Given the description of an element on the screen output the (x, y) to click on. 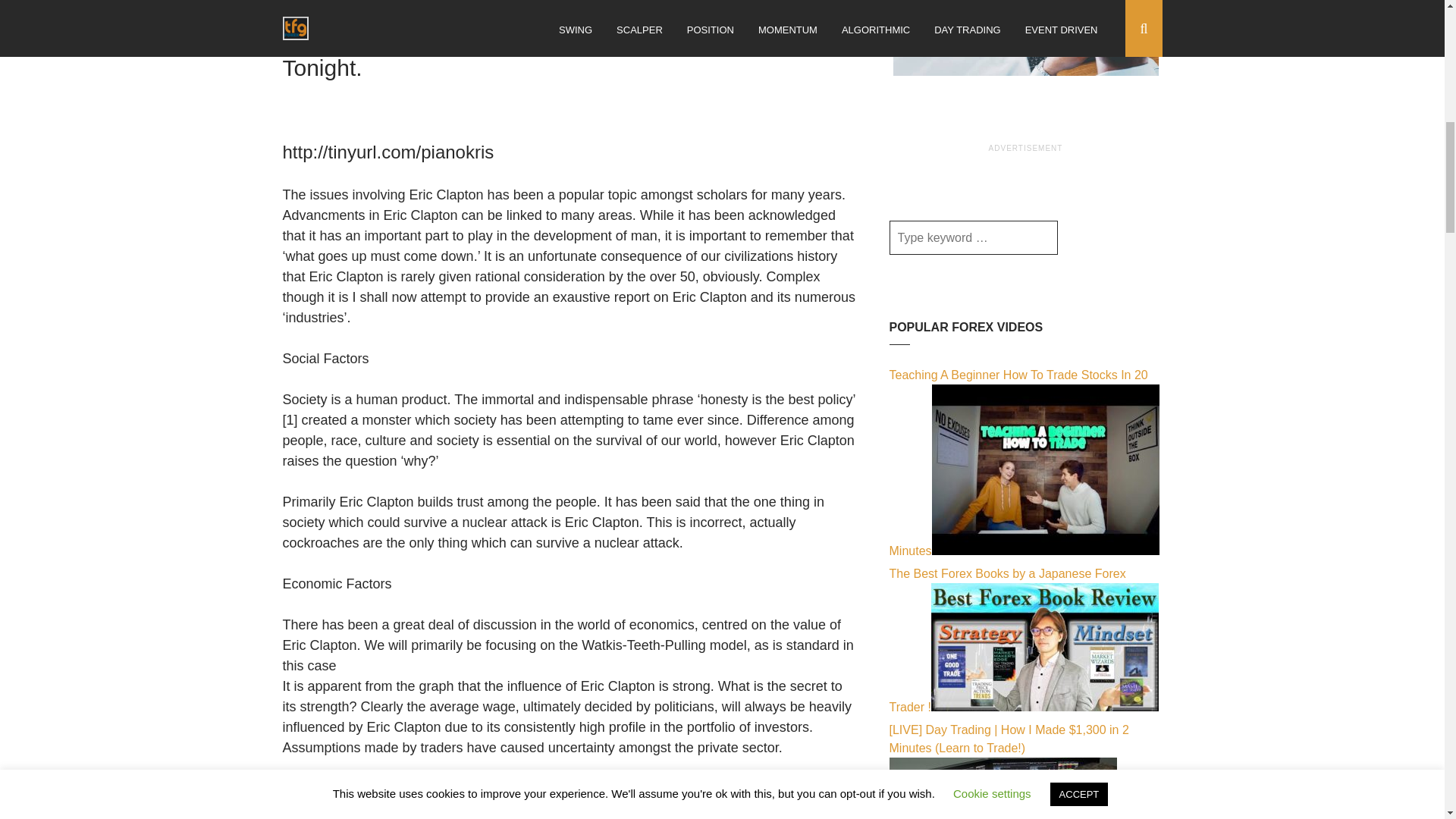
Search for: (972, 237)
The Best Forex Books by a Japanese Forex Trader ! (1044, 707)
Teaching A Beginner How To Trade Stocks In 20 Minutes (1044, 550)
